Given the description of an element on the screen output the (x, y) to click on. 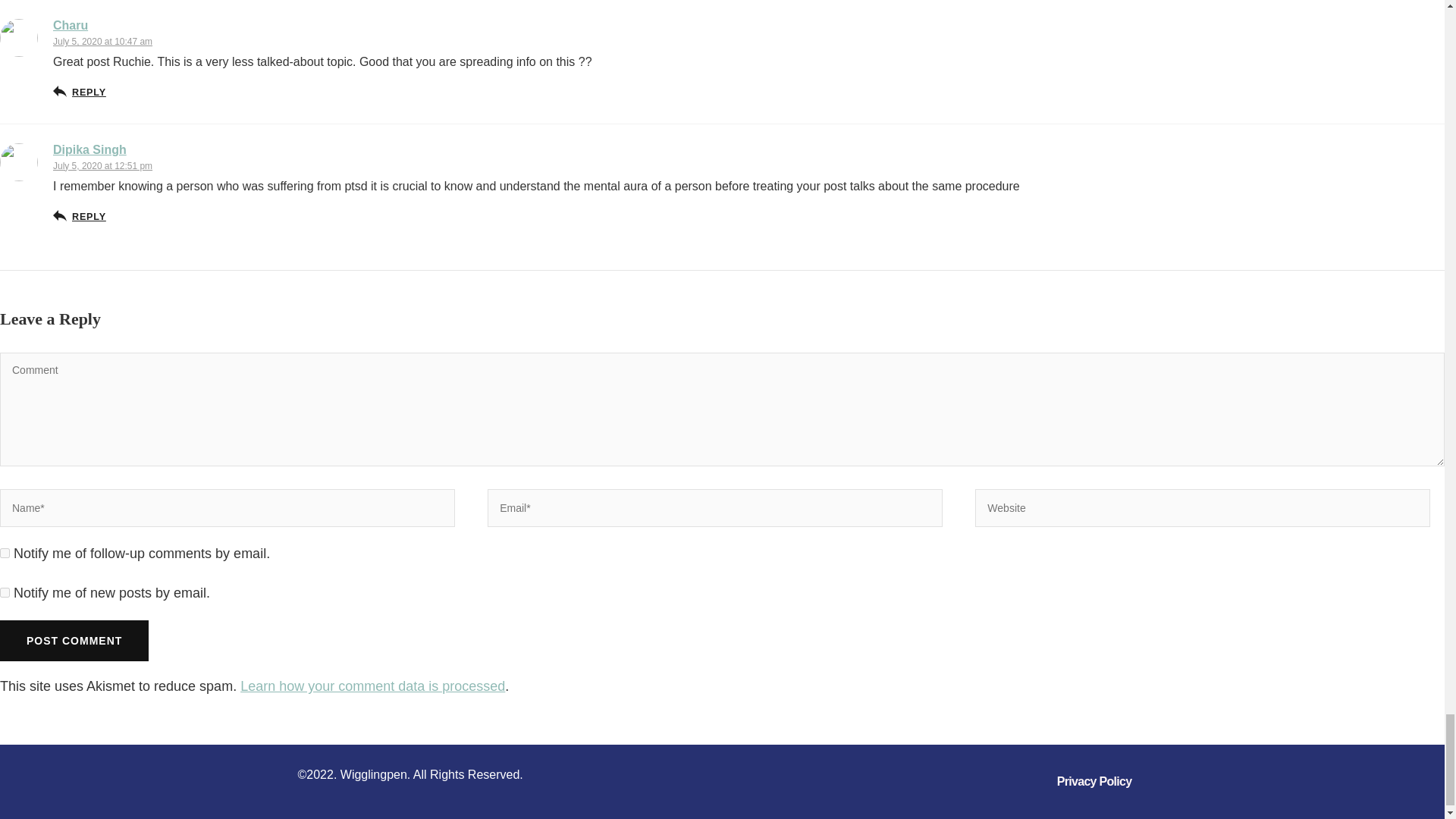
subscribe (5, 592)
subscribe (5, 552)
Post Comment (74, 639)
